Given the description of an element on the screen output the (x, y) to click on. 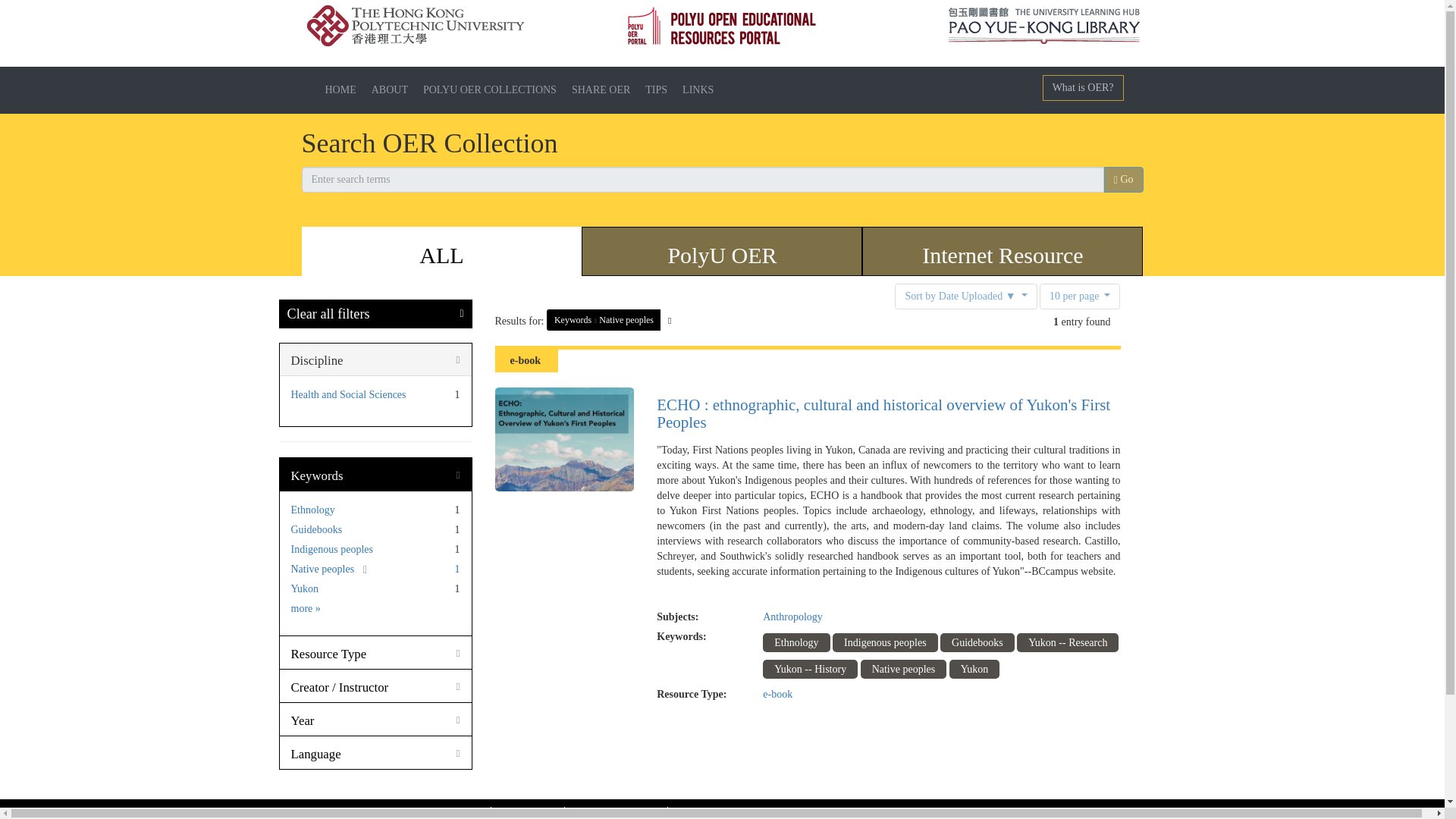
collapse expand (315, 753)
Clear all filters (327, 313)
PolyU OER (722, 254)
Indigenous peoples (331, 549)
Clear all filters (327, 313)
collapse expand (328, 653)
Native peoples (625, 319)
remove (359, 568)
ABOUT (390, 89)
collapse expand (317, 359)
